Given the description of an element on the screen output the (x, y) to click on. 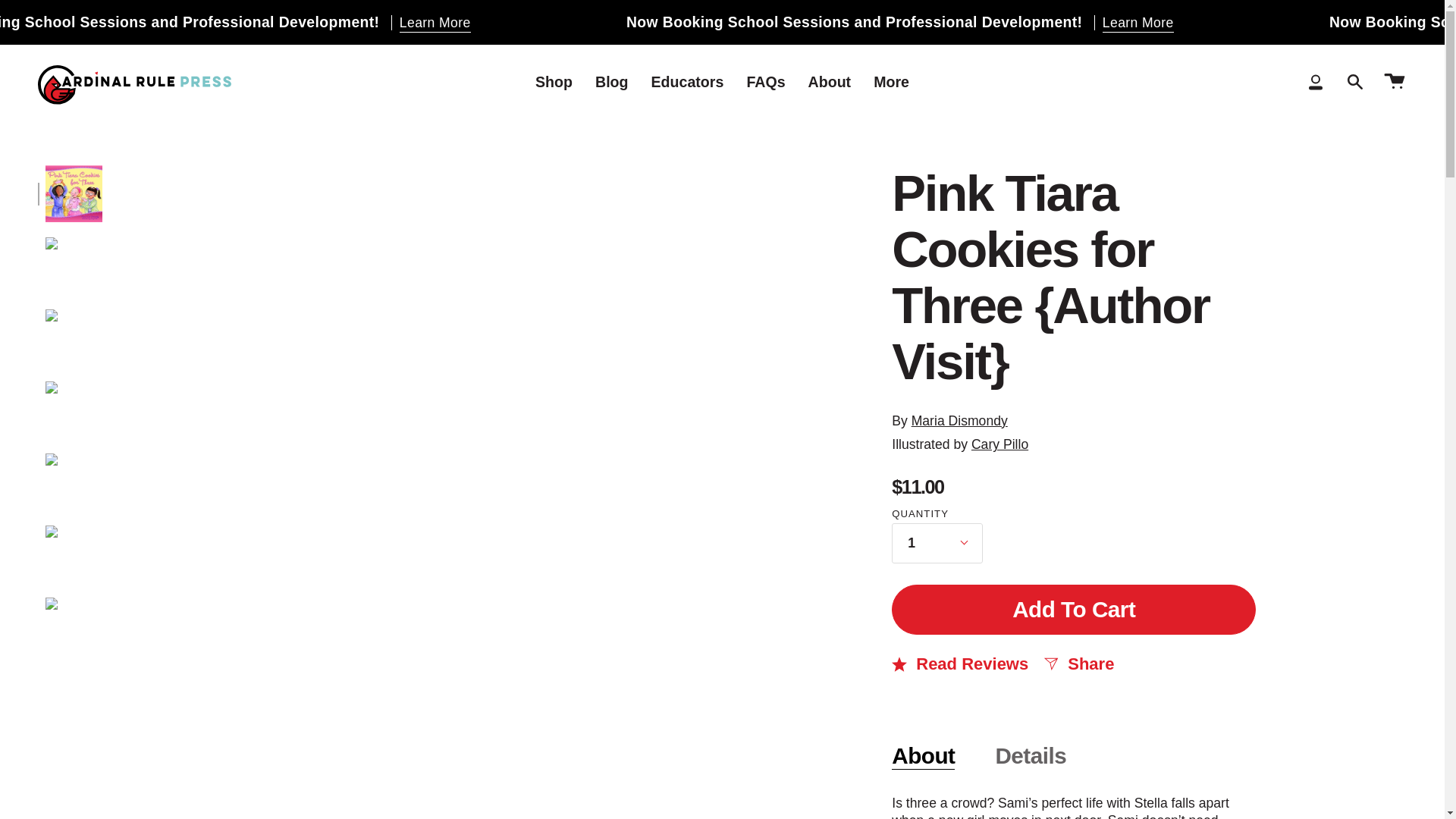
Learn More (619, 22)
Learn More (1320, 22)
Speakers (564, 22)
Speakers (1265, 22)
Educators (687, 82)
